Given the description of an element on the screen output the (x, y) to click on. 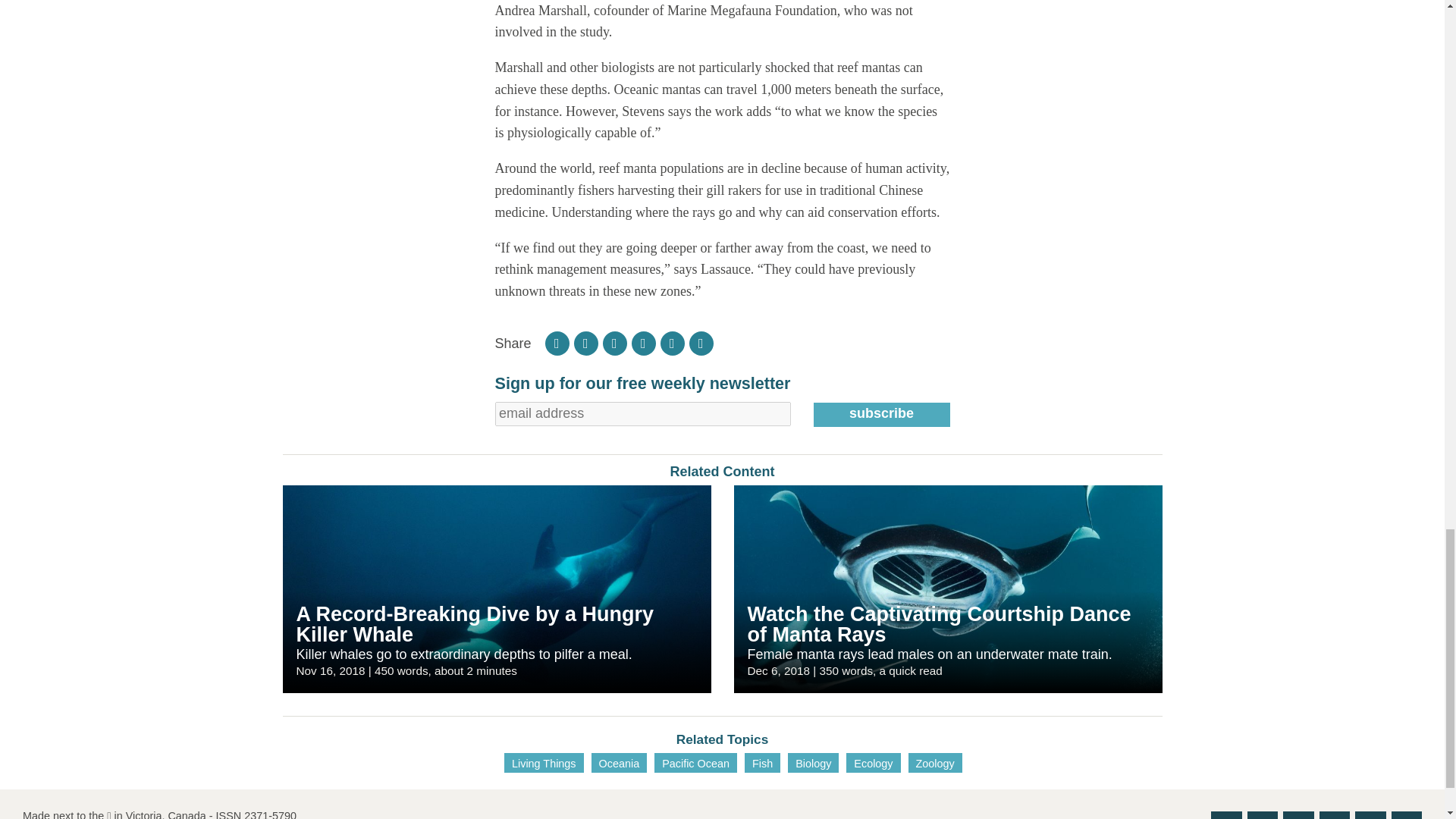
Share on Flipboard (556, 343)
Share on Pocket (643, 343)
Share by Email (700, 343)
Share on Twitter (614, 343)
Share on Facebook (585, 343)
Share on Mastodon (672, 343)
